Given the description of an element on the screen output the (x, y) to click on. 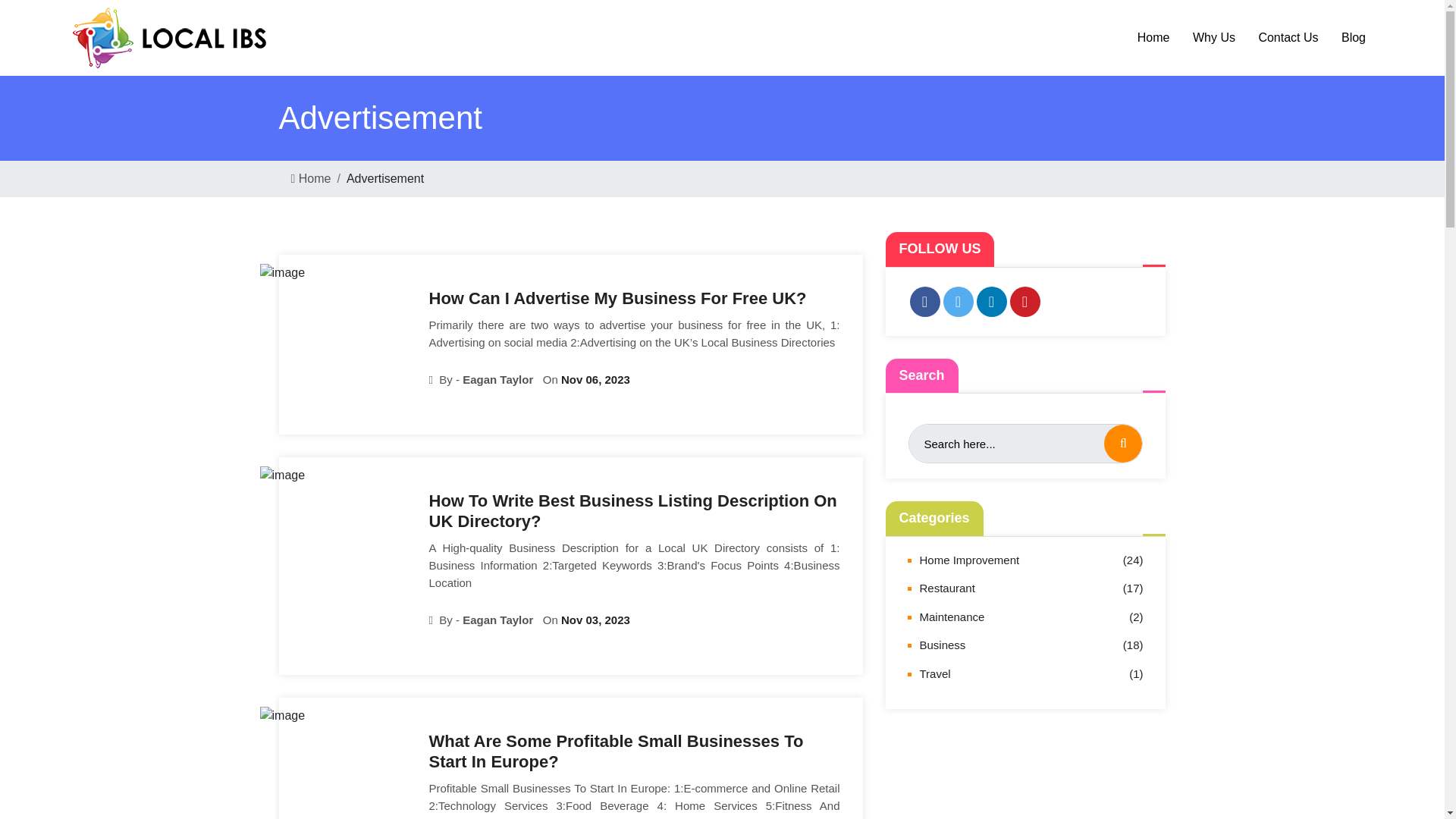
Why Us (1211, 37)
Business (941, 644)
Maintenance (951, 617)
Travel (934, 673)
Home (1150, 37)
Restaurant (946, 588)
How Can I Advertise My Business For Free UK? (634, 294)
Home Improvement (968, 560)
Blog (1351, 37)
Contact Us (1286, 37)
Home (311, 178)
